Given the description of an element on the screen output the (x, y) to click on. 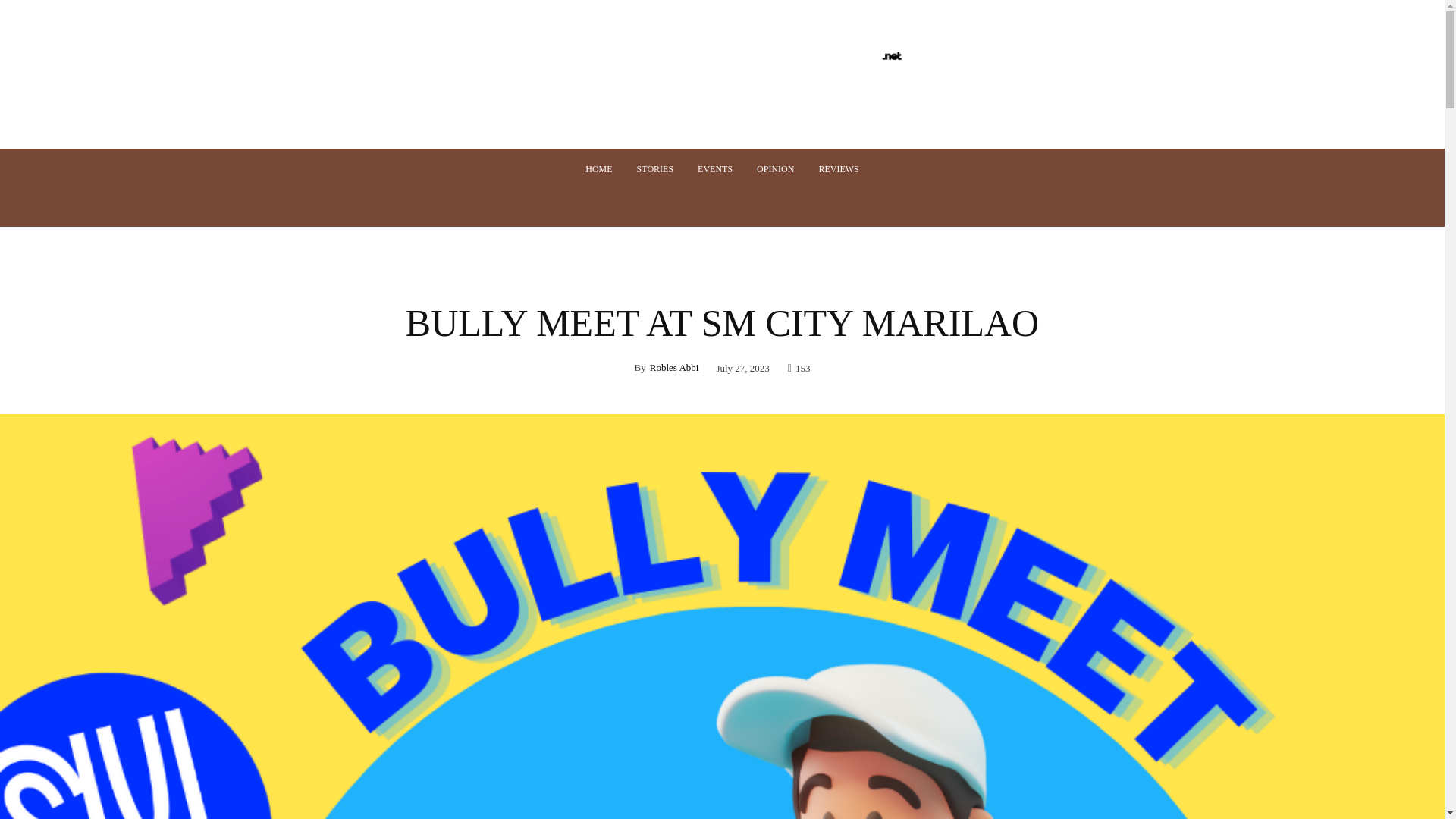
EVENTS (714, 169)
HOME (598, 169)
STORIES (654, 169)
Robles Abbi (673, 367)
REVIEWS (838, 169)
OPINION (775, 169)
